Given the description of an element on the screen output the (x, y) to click on. 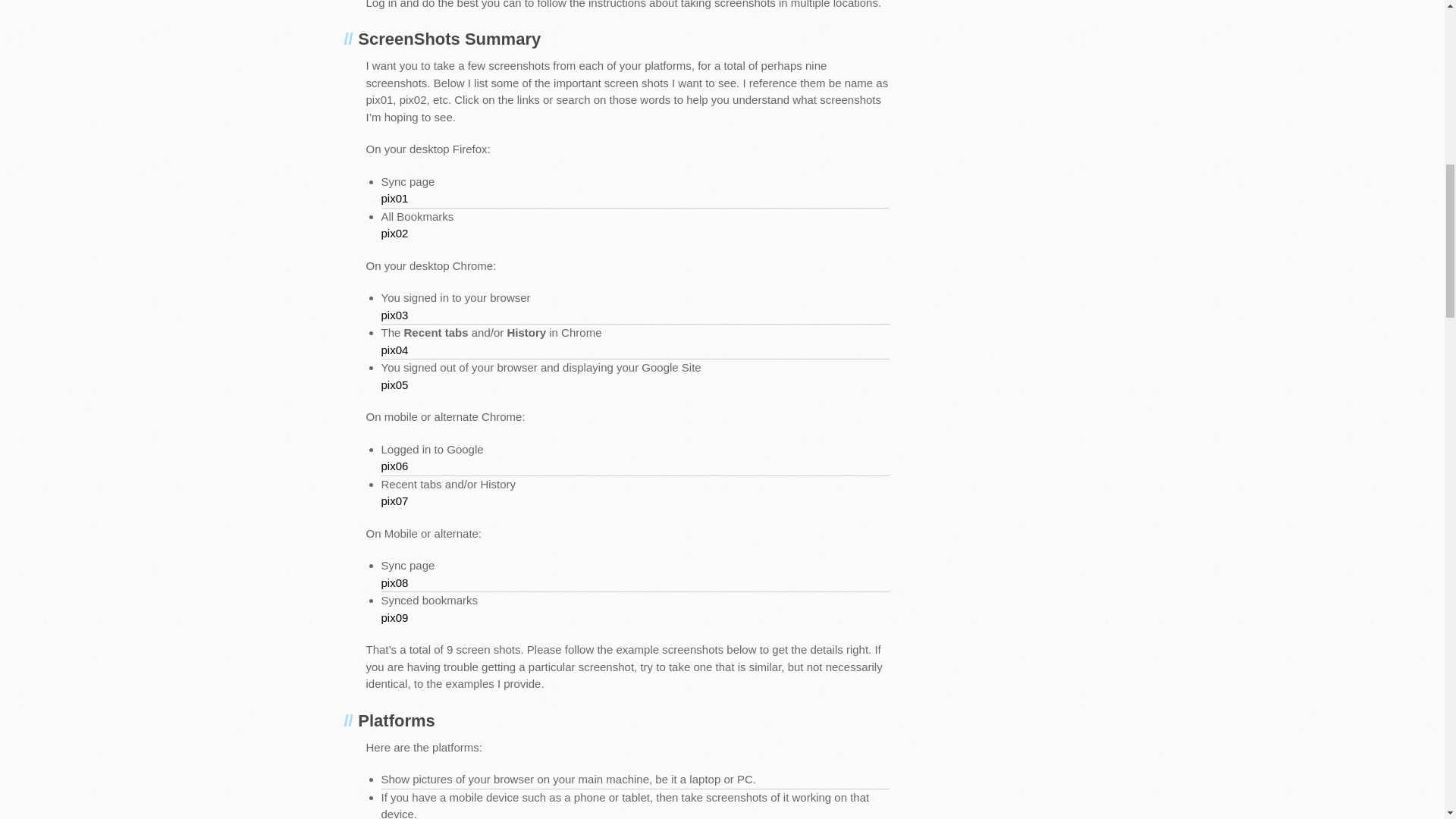
pix09 (456, 618)
pix01 (456, 199)
pix06 (456, 466)
pix05 (456, 384)
pix08 (456, 583)
pix02 (456, 233)
pix03 (456, 315)
pix04 (456, 350)
pix07 (456, 501)
